Given the description of an element on the screen output the (x, y) to click on. 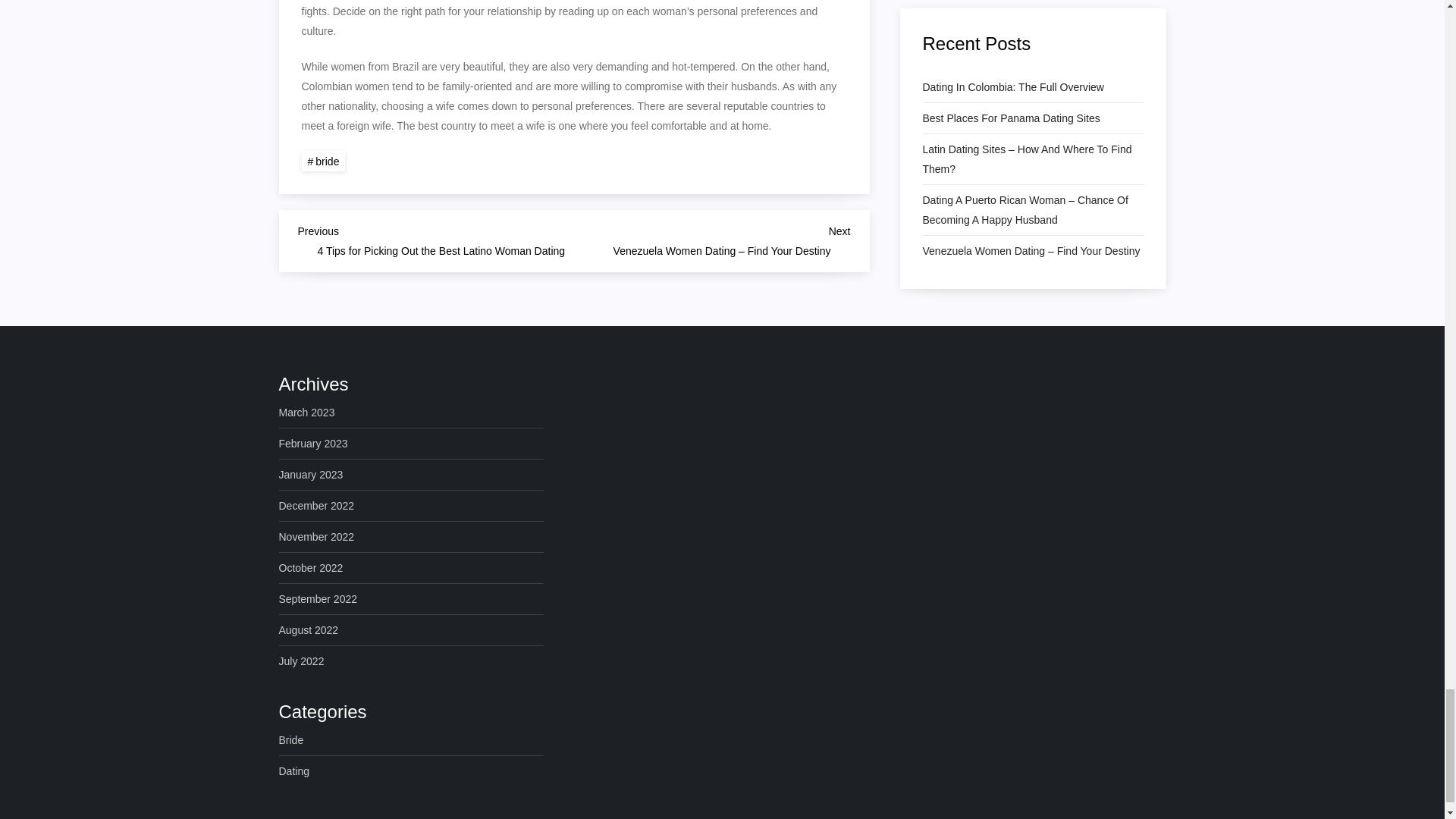
October 2022 (311, 567)
bride (323, 160)
July 2022 (301, 660)
December 2022 (317, 505)
August 2022 (309, 629)
Bride (291, 740)
March 2023 (306, 412)
Dating (293, 771)
February 2023 (313, 443)
November 2022 (317, 537)
